Given the description of an element on the screen output the (x, y) to click on. 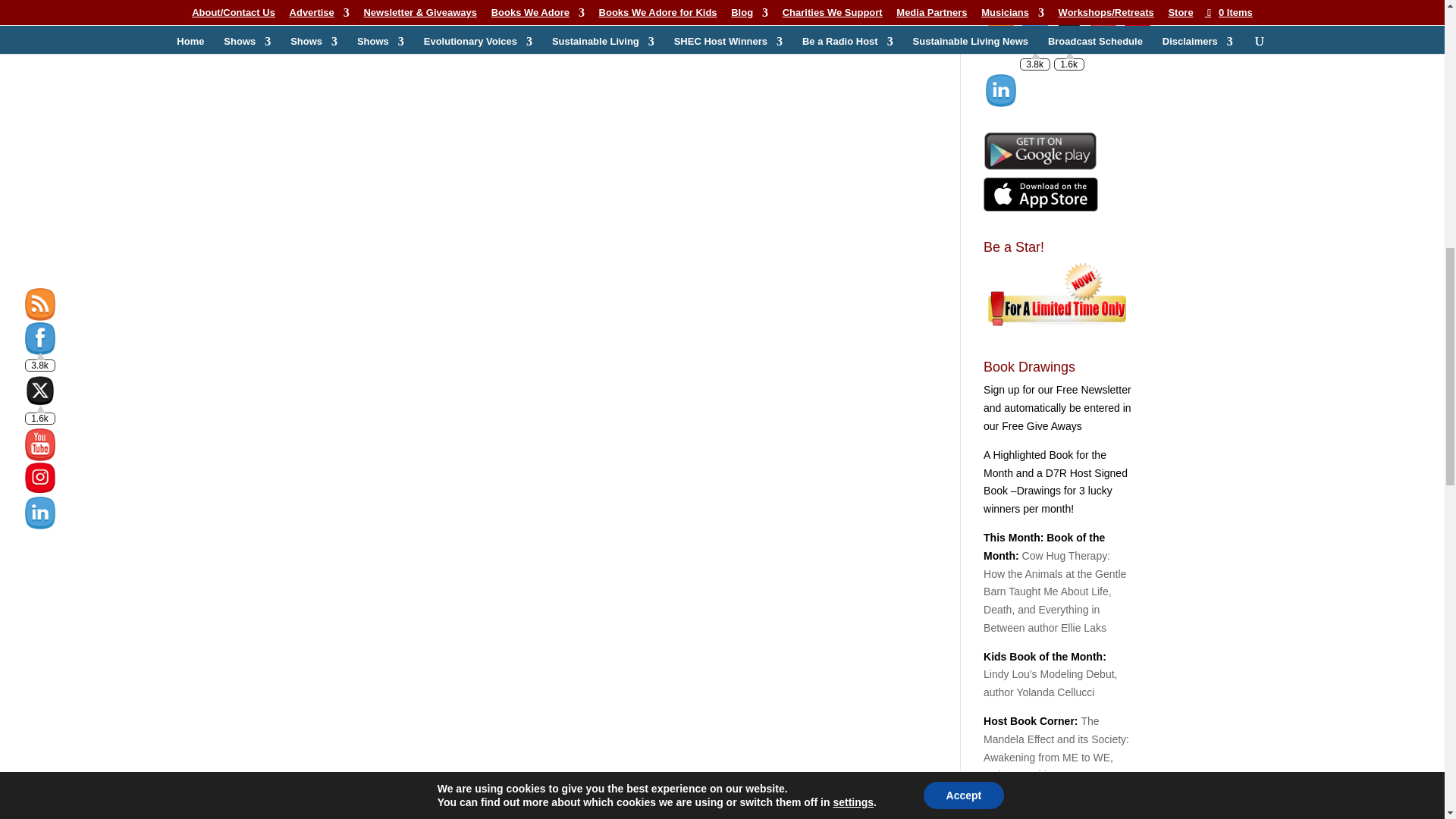
Twitter (1069, 36)
Facebook (1034, 37)
Instagram (1137, 36)
Youtube (1102, 37)
RSS (1000, 37)
